Given the description of an element on the screen output the (x, y) to click on. 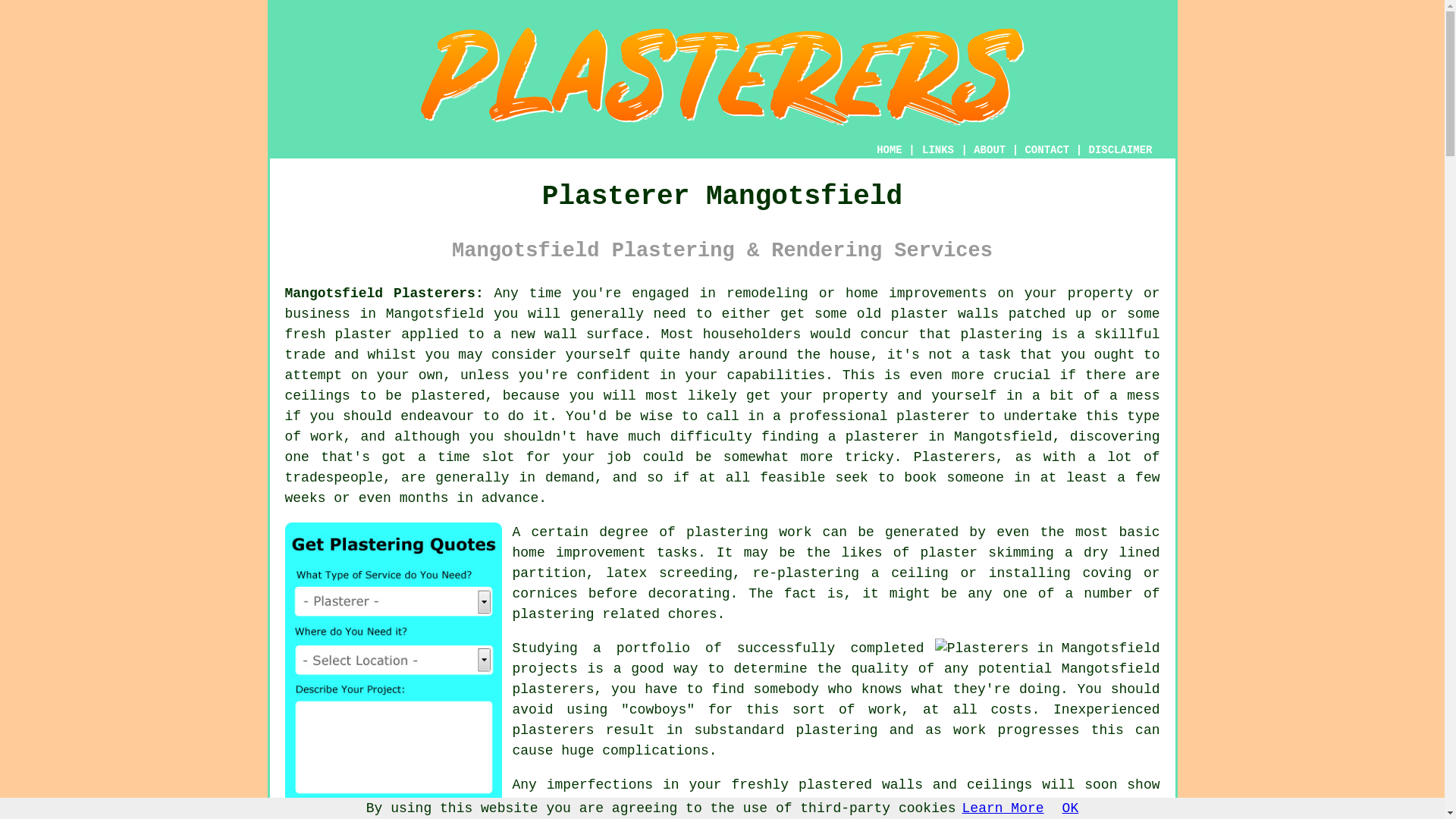
Plasterers Mangotsfield (1047, 648)
HOME (889, 150)
Plasterer Mangotsfield (722, 76)
LINKS (938, 150)
